Given the description of an element on the screen output the (x, y) to click on. 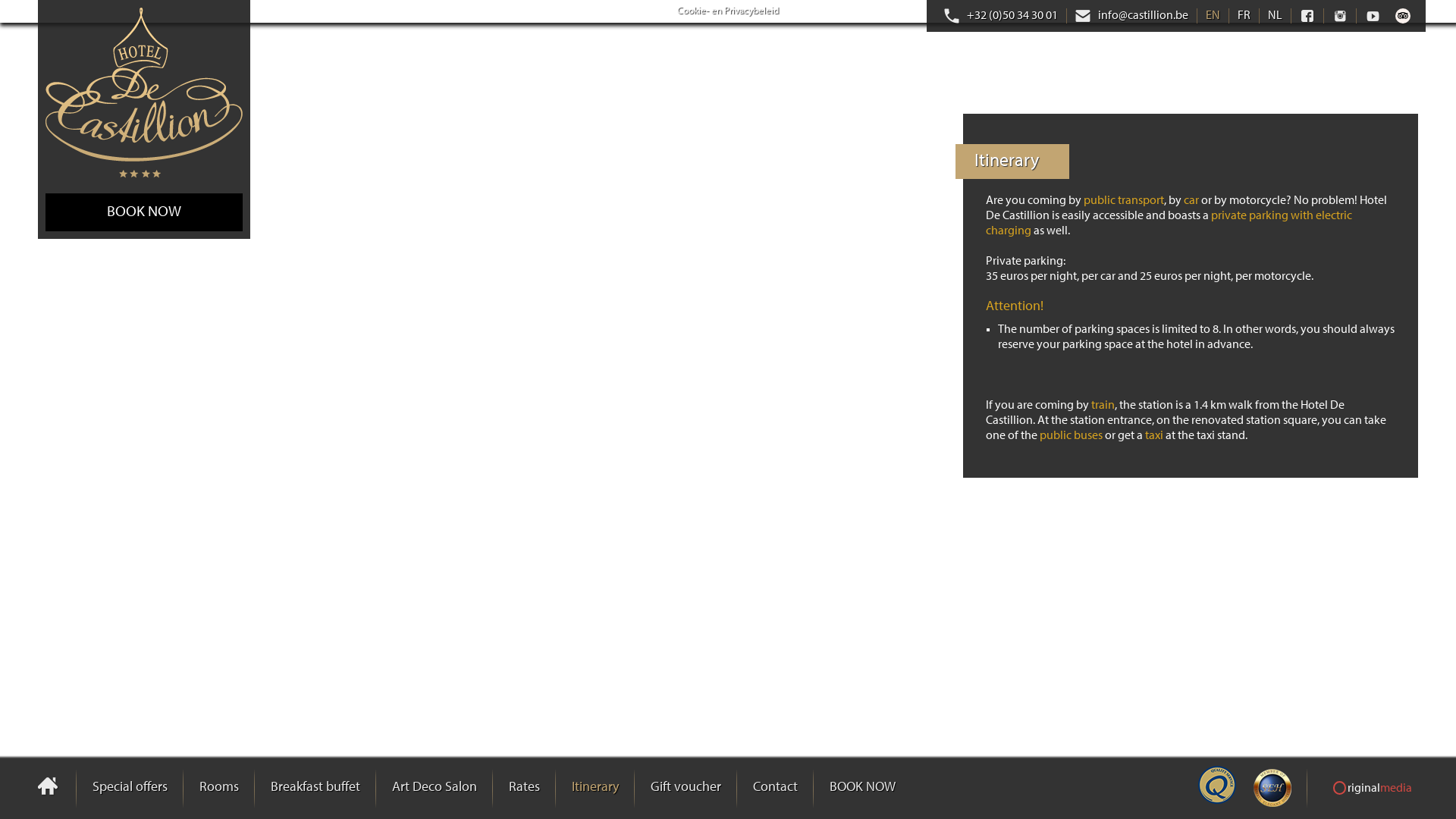
EN Element type: text (1212, 15)
riginalmedia Element type: text (1372, 788)
Hotel De Castillion Element type: text (56, 786)
FR Element type: text (1243, 15)
Art Deco Salon Element type: text (433, 788)
Special offers Element type: text (128, 788)
Facebook Element type: text (1306, 15)
BOOK NOW Element type: text (861, 788)
Video Element type: text (1372, 15)
Contact Element type: text (774, 788)
info@castillion.be Element type: text (1131, 15)
Instagram Element type: text (1339, 15)
Small Elegant Hotels Element type: hover (1272, 787)
BOOK NOW Element type: text (143, 212)
Read traveller reviews on Tripadvisor Element type: hover (1402, 15)
Hotel De Castillion Element type: hover (143, 92)
NL Element type: text (1274, 15)
+32 (0)50 34 30 01 Element type: text (1000, 15)
Itinerary Element type: text (594, 788)
Gift voucher Element type: text (684, 788)
Rooms Element type: text (218, 788)
Rates Element type: text (523, 788)
Breakfast buffet Element type: text (314, 788)
